Given the description of an element on the screen output the (x, y) to click on. 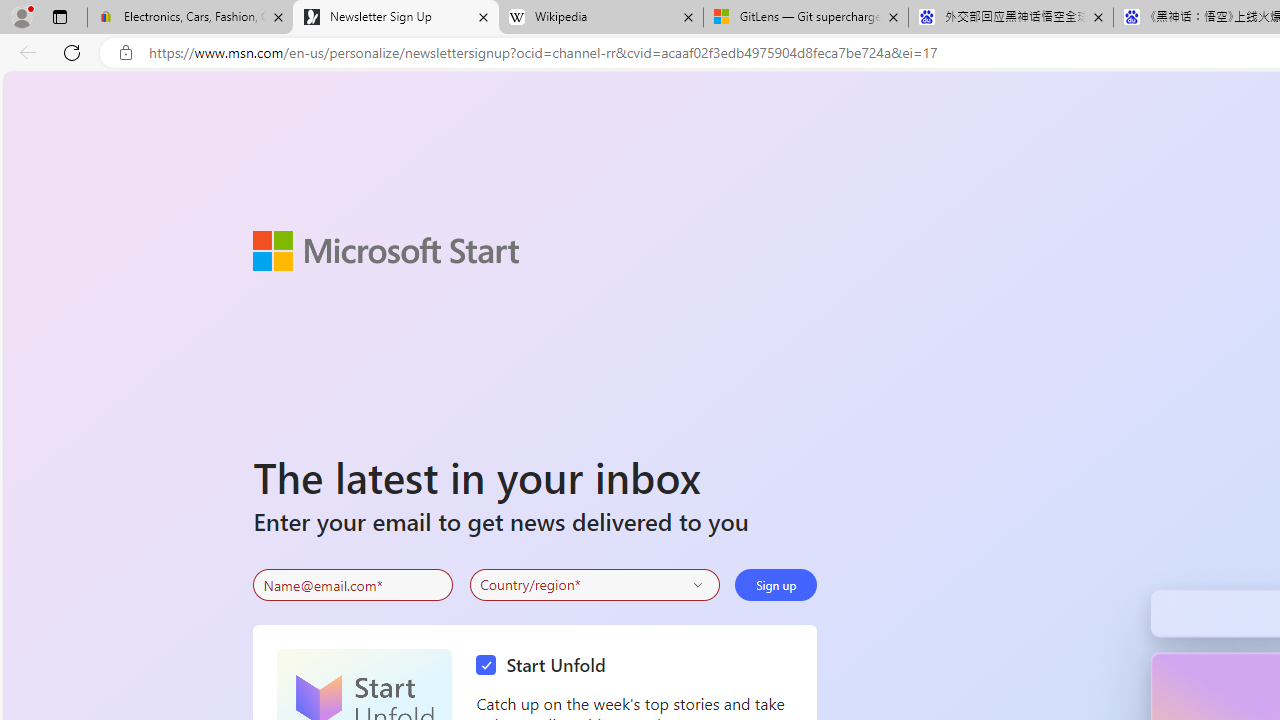
Select your country (594, 584)
Enter your email (353, 585)
Start Unfold (545, 665)
Wikipedia (600, 17)
Newsletter Sign Up (395, 17)
Sign up (775, 584)
